Given the description of an element on the screen output the (x, y) to click on. 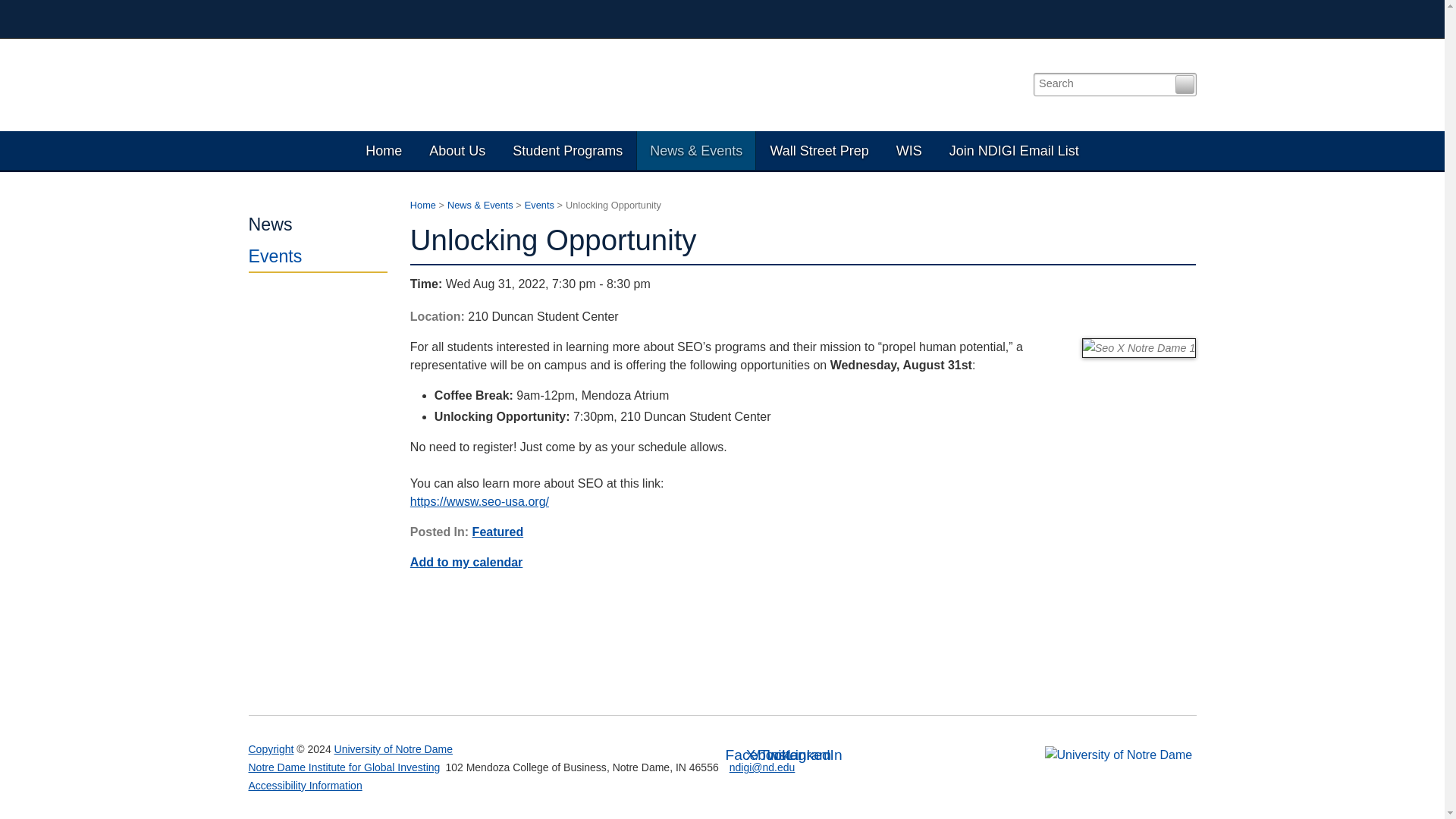
Student Programs (567, 150)
Notre Dame Institute for Global Investing (344, 767)
Featured (497, 531)
Copyright (271, 748)
Home (383, 150)
Wed Aug 31, 2022  7:30 pm -  8:30 pm (803, 284)
Events (539, 204)
Add to my calendar (466, 562)
Events (317, 256)
Accessibility Information (305, 785)
Mendoza College Business (1063, 18)
Join NDIGI Email List (1014, 150)
University of Notre Dame (393, 748)
About Us (456, 150)
Home (422, 204)
